Given the description of an element on the screen output the (x, y) to click on. 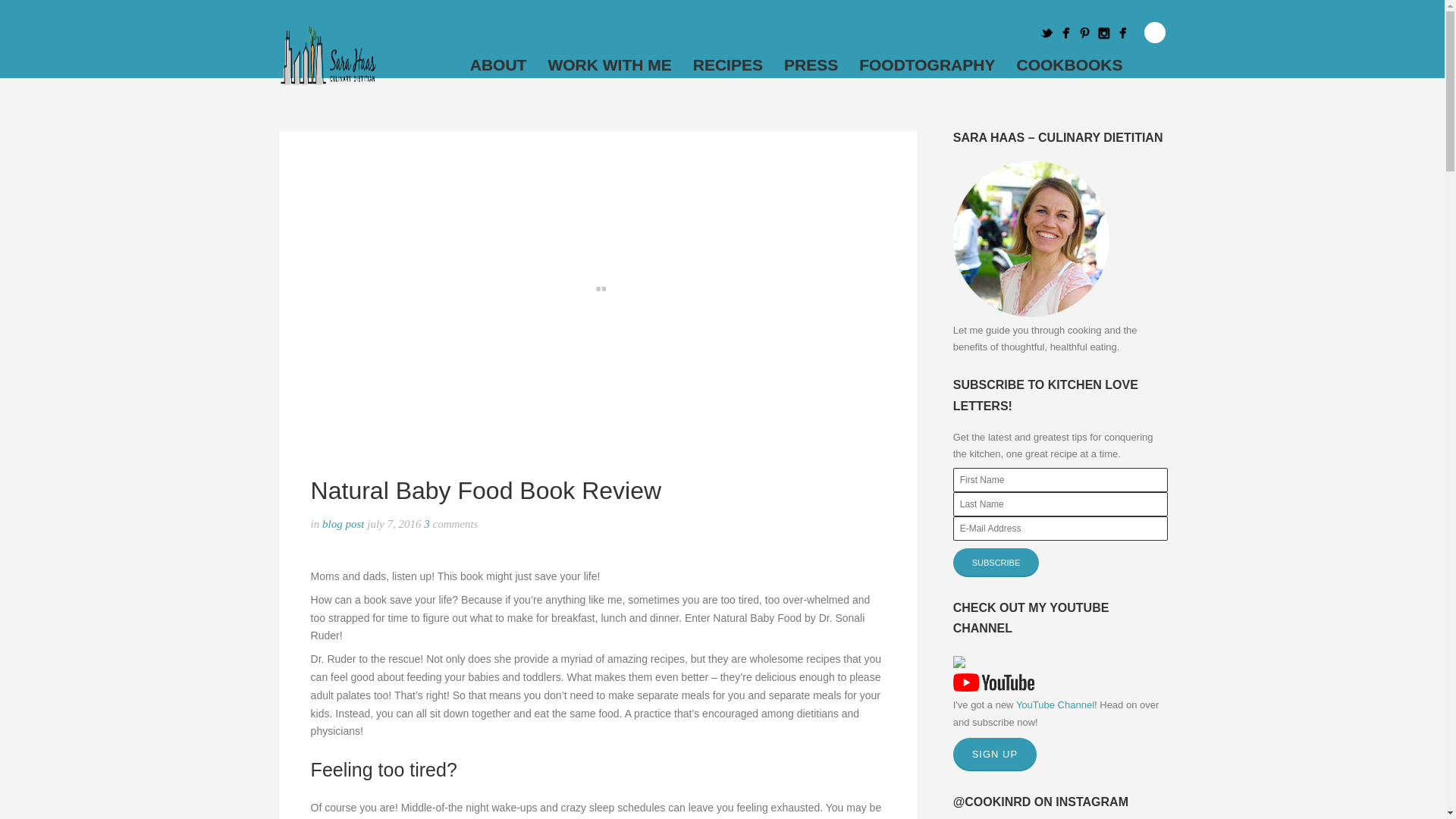
Search (1155, 32)
RECIPES (727, 64)
WORK WITH ME (609, 64)
Subscribe (996, 562)
FOODTOGRAPHY (927, 64)
SaraHaasRDN (1066, 32)
ABOUT (498, 64)
PRESS (810, 64)
SaraCookinRD (1084, 32)
